Given the description of an element on the screen output the (x, y) to click on. 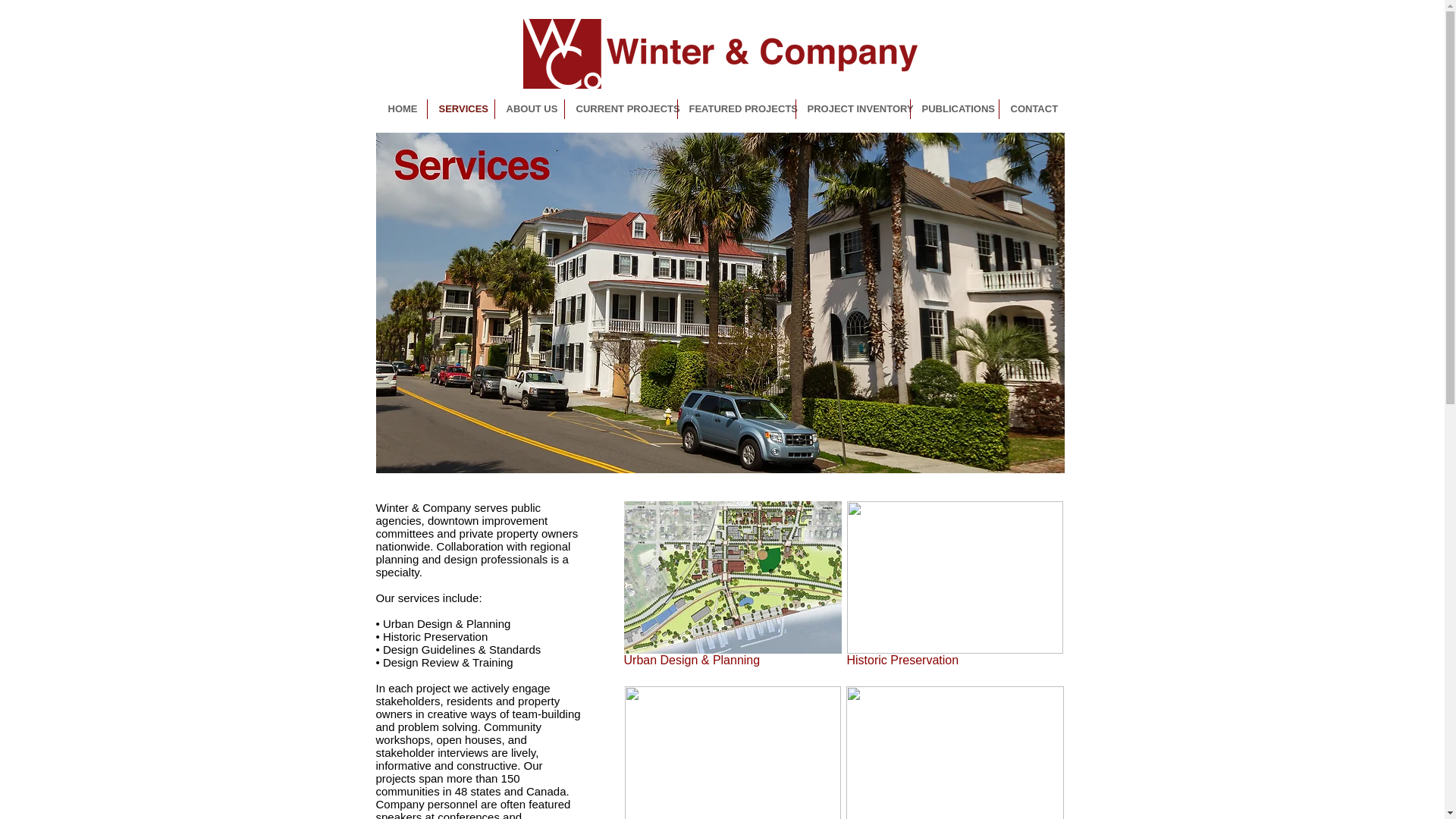
ABOUT US (529, 108)
PROJECT INVENTORY (853, 108)
CONTACT (1030, 108)
HOME (400, 108)
CURRENT PROJECTS (620, 108)
PUBLICATIONS (953, 108)
FEATURED PROJECTS (736, 108)
SERVICES (461, 108)
